Given the description of an element on the screen output the (x, y) to click on. 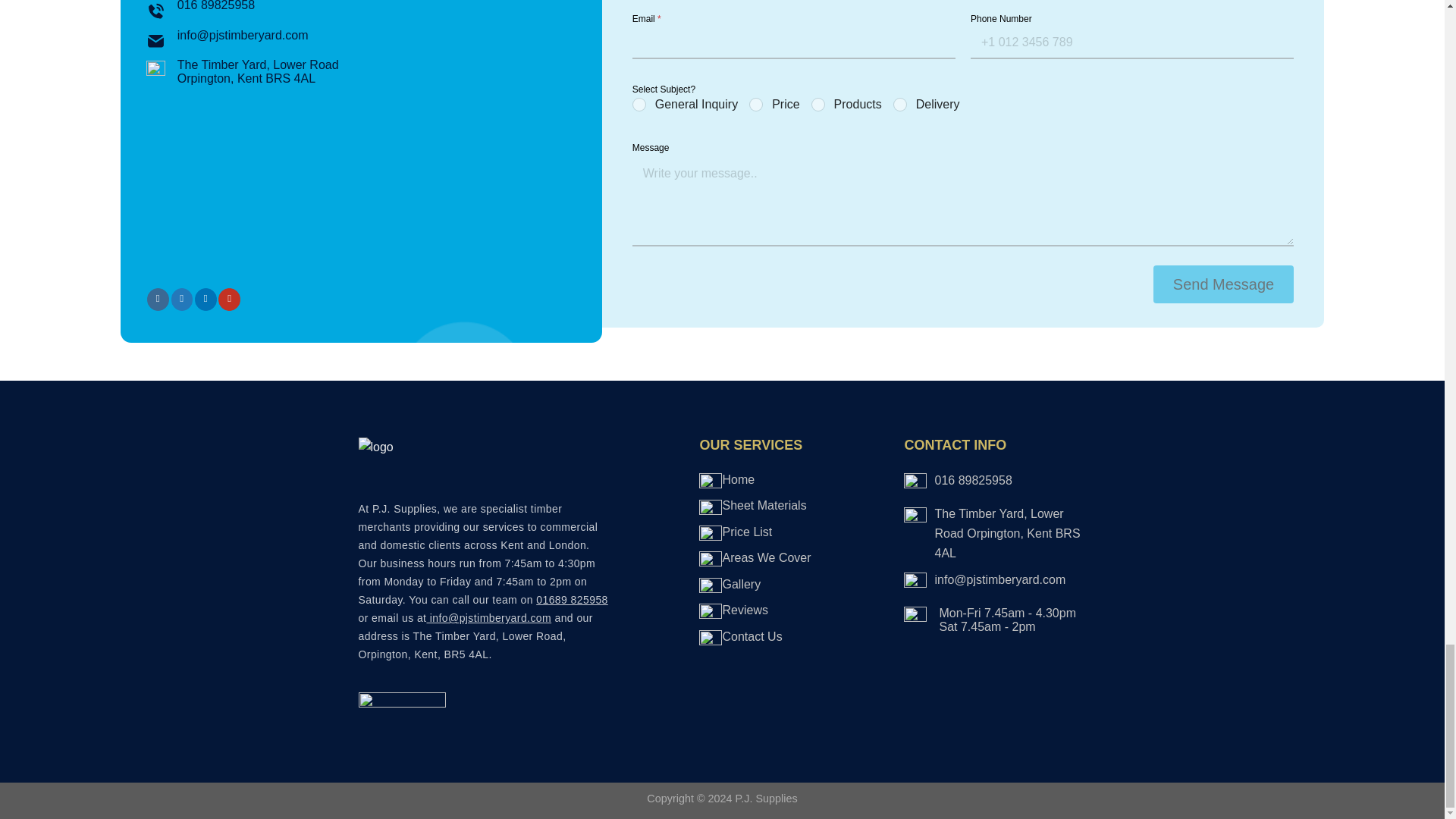
Follow on YouTube (229, 299)
General Inquiry (639, 105)
Follow on Instagram (157, 299)
Follow on Twitter (182, 299)
Price (756, 105)
Delivery (901, 105)
Follow on LinkedIn (205, 299)
Products (818, 105)
